Given the description of an element on the screen output the (x, y) to click on. 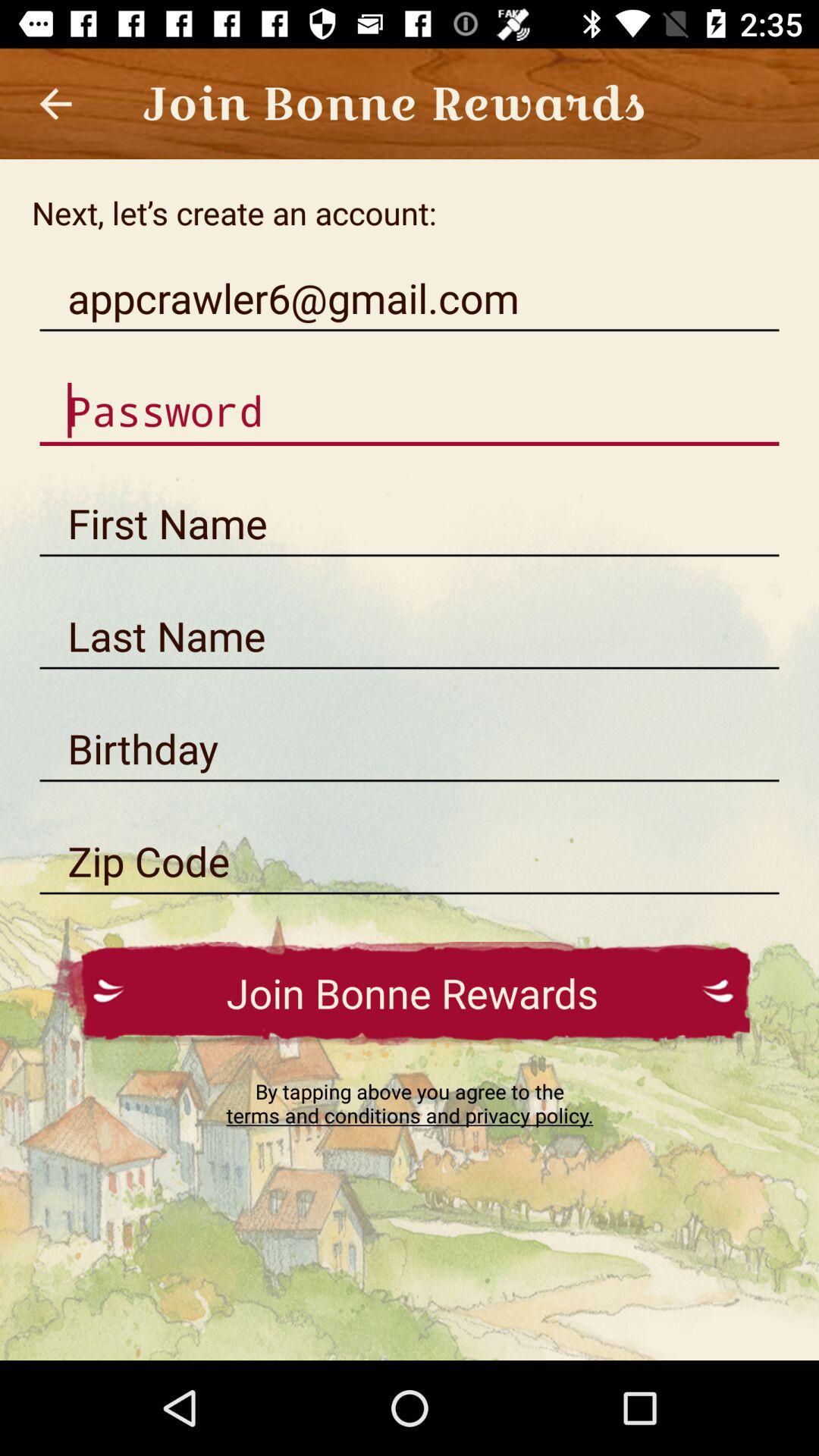
this is to add password (409, 410)
